Given the description of an element on the screen output the (x, y) to click on. 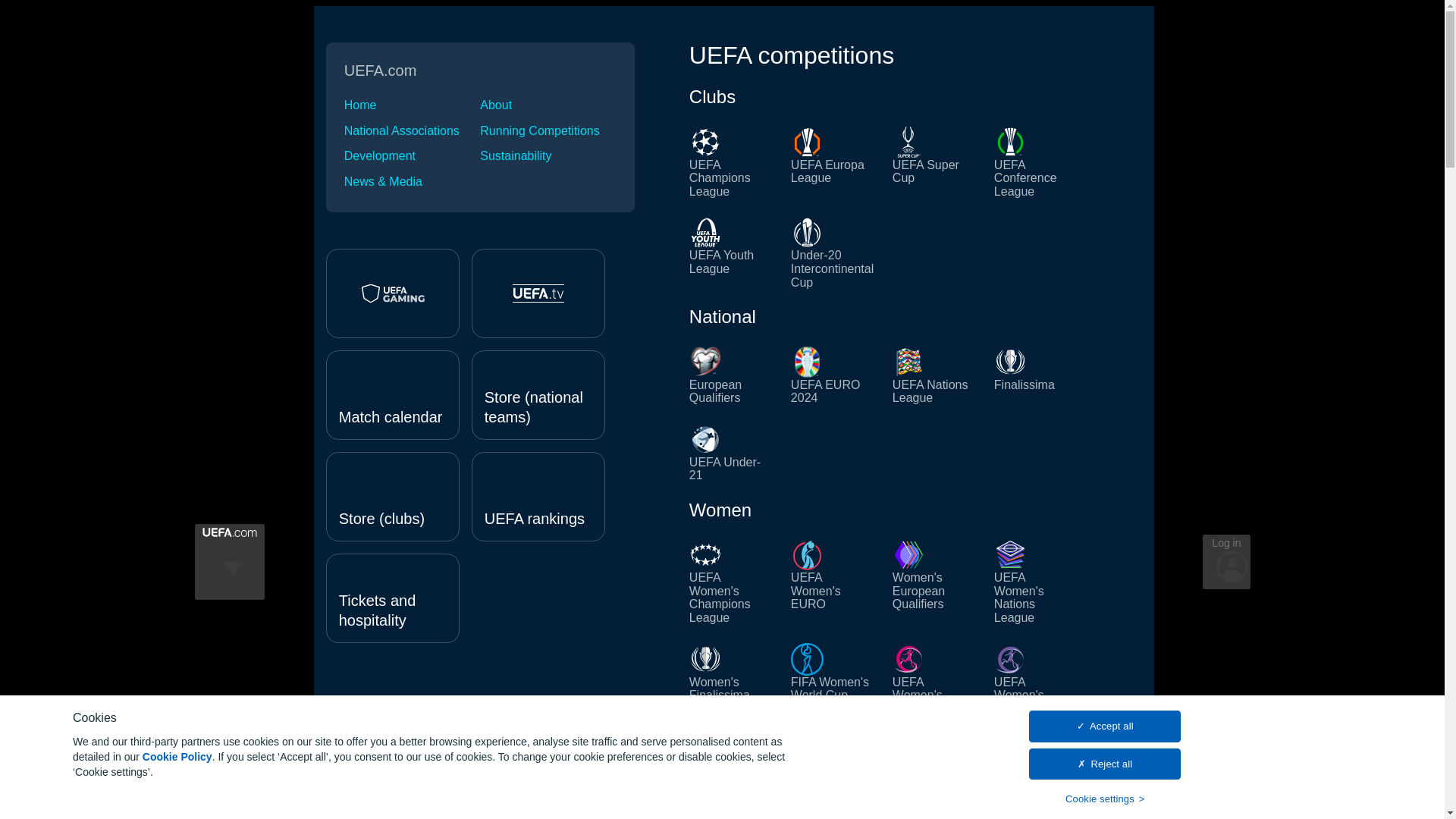
UEFA Under-21 (730, 452)
UEFA Women's Under-17 (1035, 678)
UEFA Women's Under-19 (933, 678)
UEFA Regions' Cup (933, 795)
UEFA Champions League (730, 162)
Women's Finalissima (730, 678)
National Associations (411, 131)
Match calendar (393, 394)
UEFA Women's EURO (832, 581)
UEFA Nations League (933, 374)
